Given the description of an element on the screen output the (x, y) to click on. 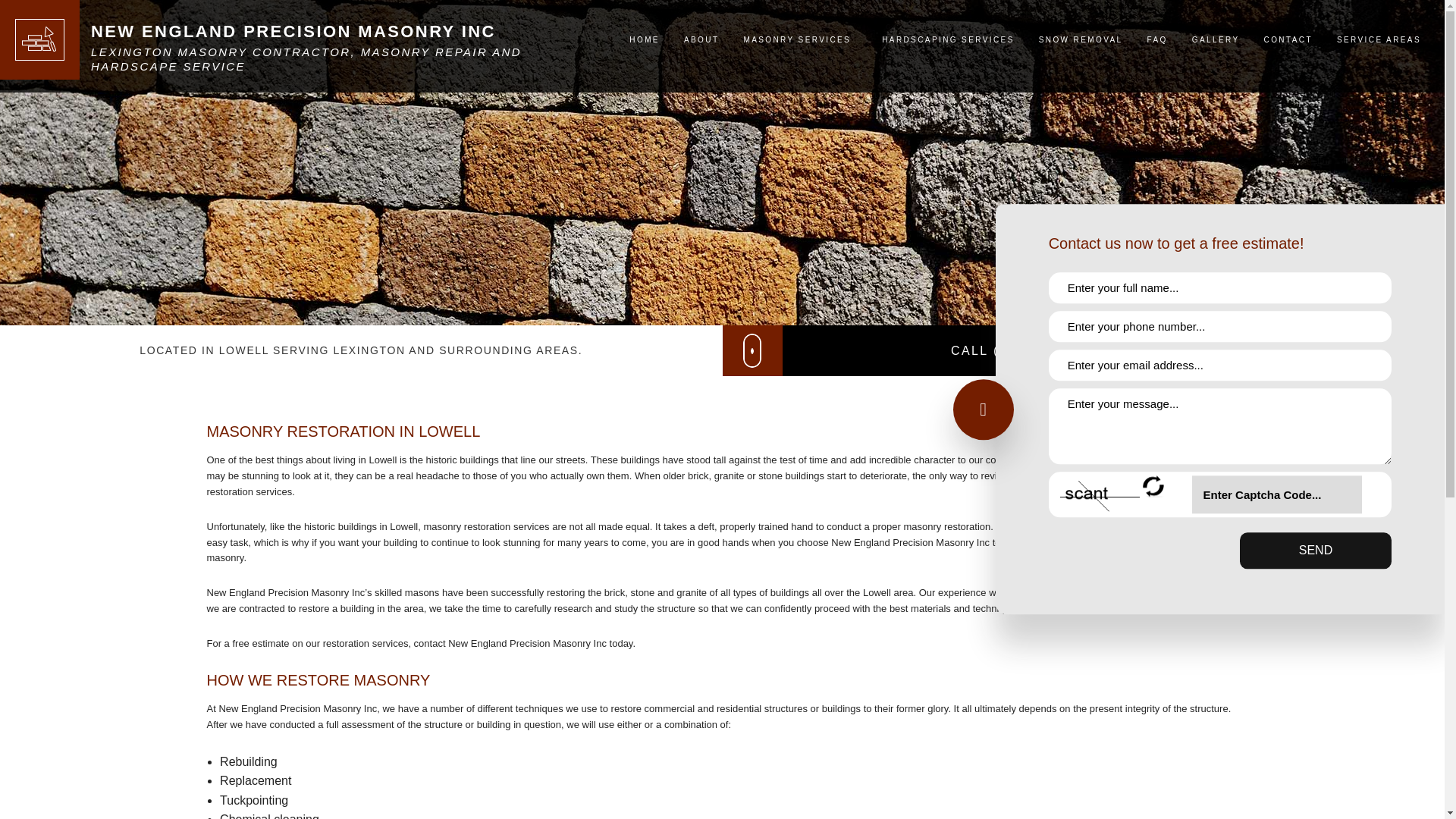
MASONRY REPAIR (800, 295)
MASONRY RESTORATION (800, 204)
STAMPED CONCRETE (800, 250)
CONTACT (1288, 39)
SERVICE AREAS (1378, 39)
MASONRY CONSTRUCTION (800, 181)
Full Name (1219, 287)
Home (340, 31)
GALLERY (1215, 39)
SEND (1315, 551)
MASONRY SERVICES (799, 39)
RETAINING WALLS (800, 227)
MASONRY SERVICES (800, 318)
CONCRETE COUNTERTOPS (800, 136)
CONCRETE REPAIR (800, 159)
